Given the description of an element on the screen output the (x, y) to click on. 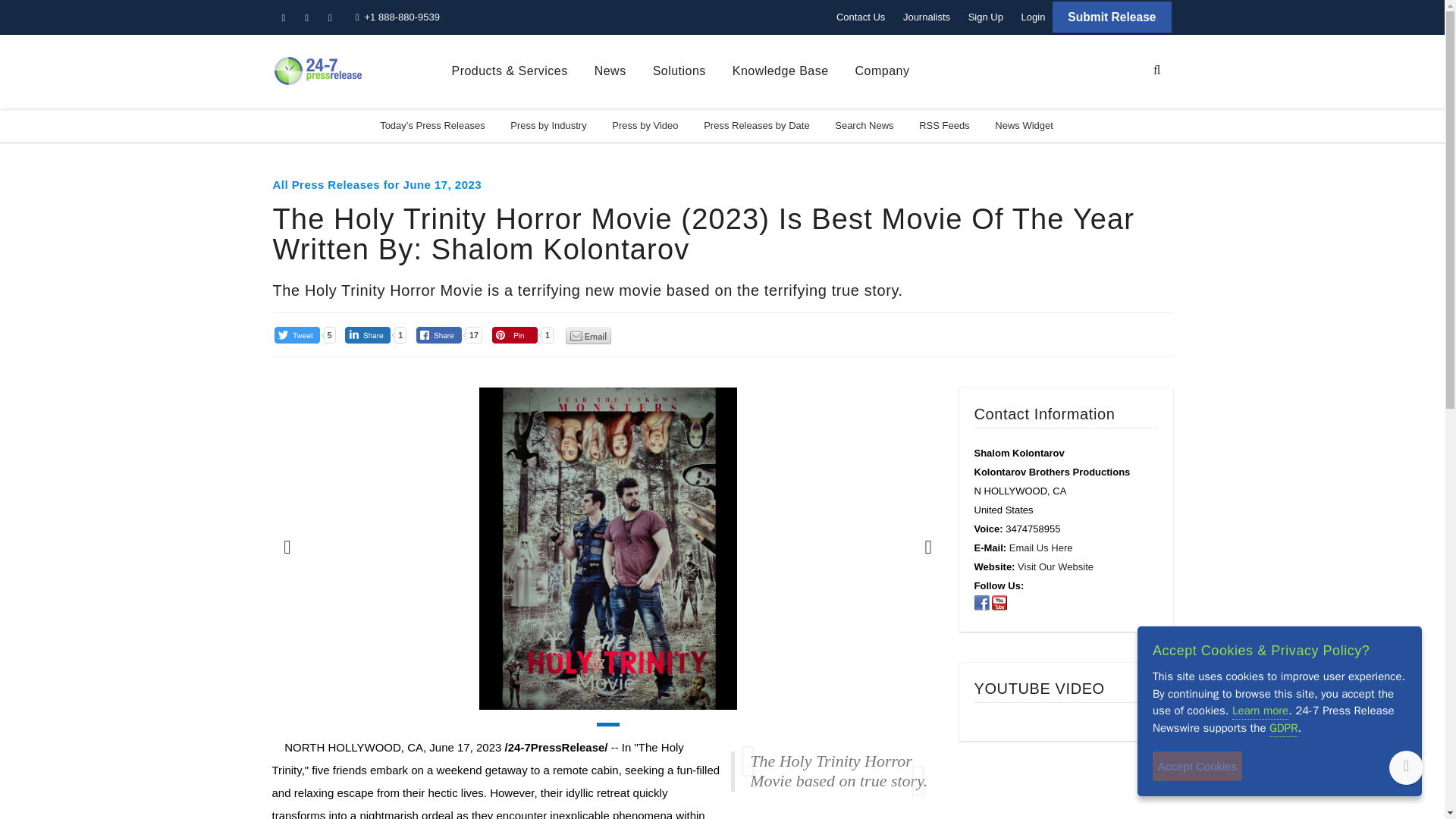
Solutions (679, 71)
Submit Release (1111, 16)
Knowledge Base (780, 71)
Sign Up (985, 16)
Contact Us (860, 16)
Login (1032, 16)
Journalists (926, 16)
Company (882, 71)
